Given the description of an element on the screen output the (x, y) to click on. 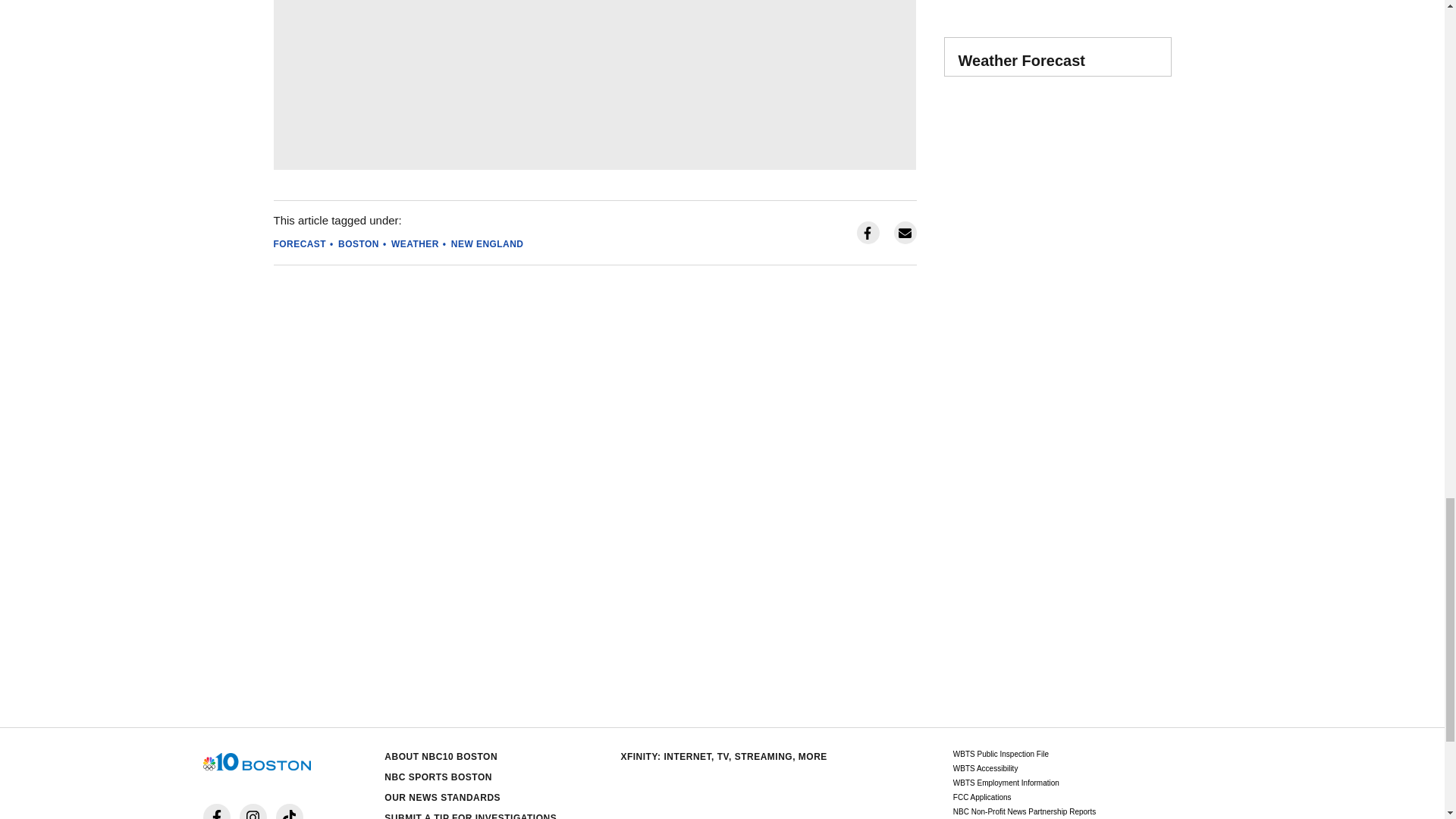
WEATHER (415, 243)
FORECAST (299, 243)
3rd party ad content (1056, 343)
NEW ENGLAND (487, 243)
BOSTON (357, 243)
